Given the description of an element on the screen output the (x, y) to click on. 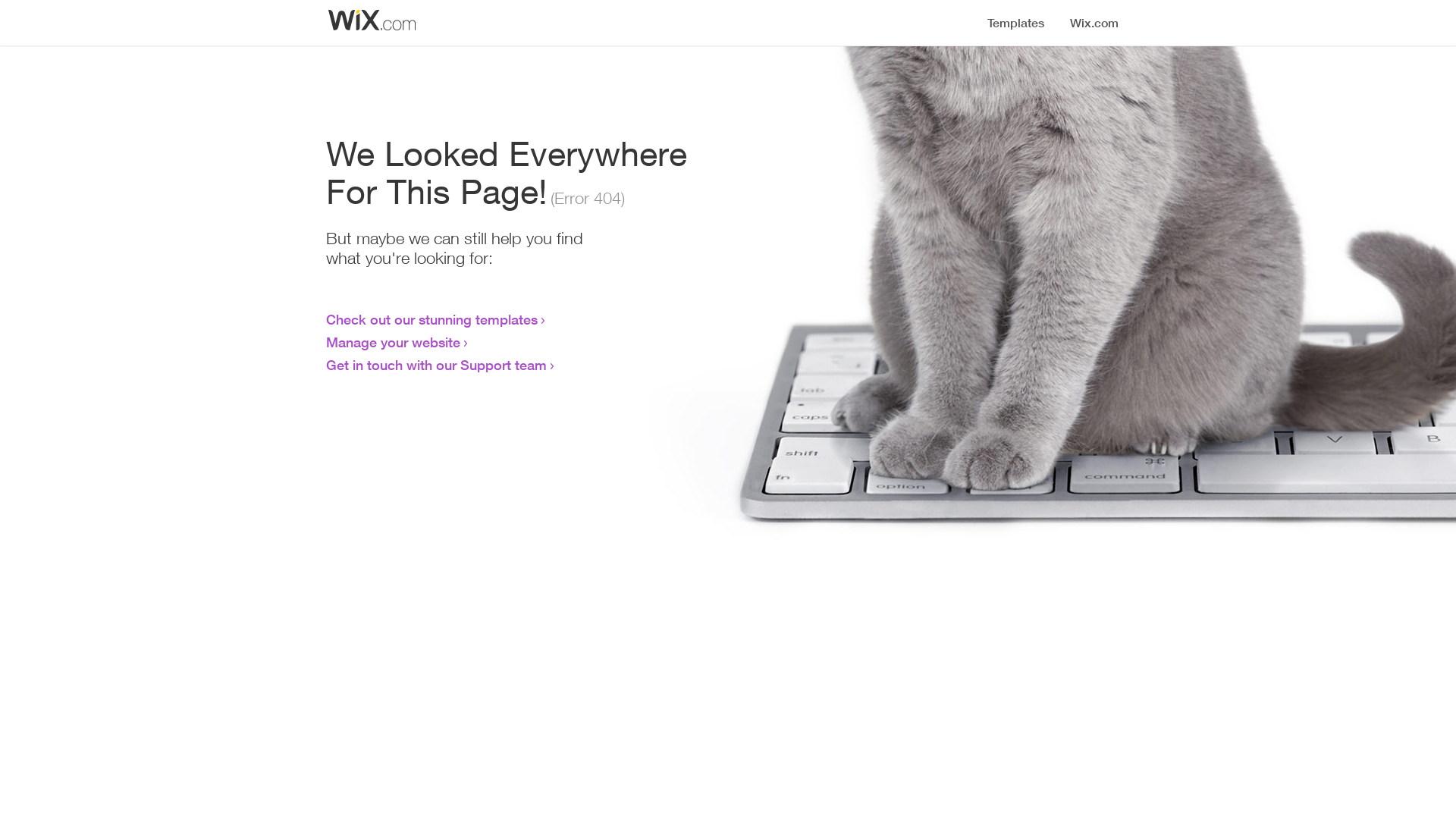
Get in touch with our Support team Element type: text (436, 364)
Manage your website Element type: text (393, 341)
Check out our stunning templates Element type: text (431, 318)
